Given the description of an element on the screen output the (x, y) to click on. 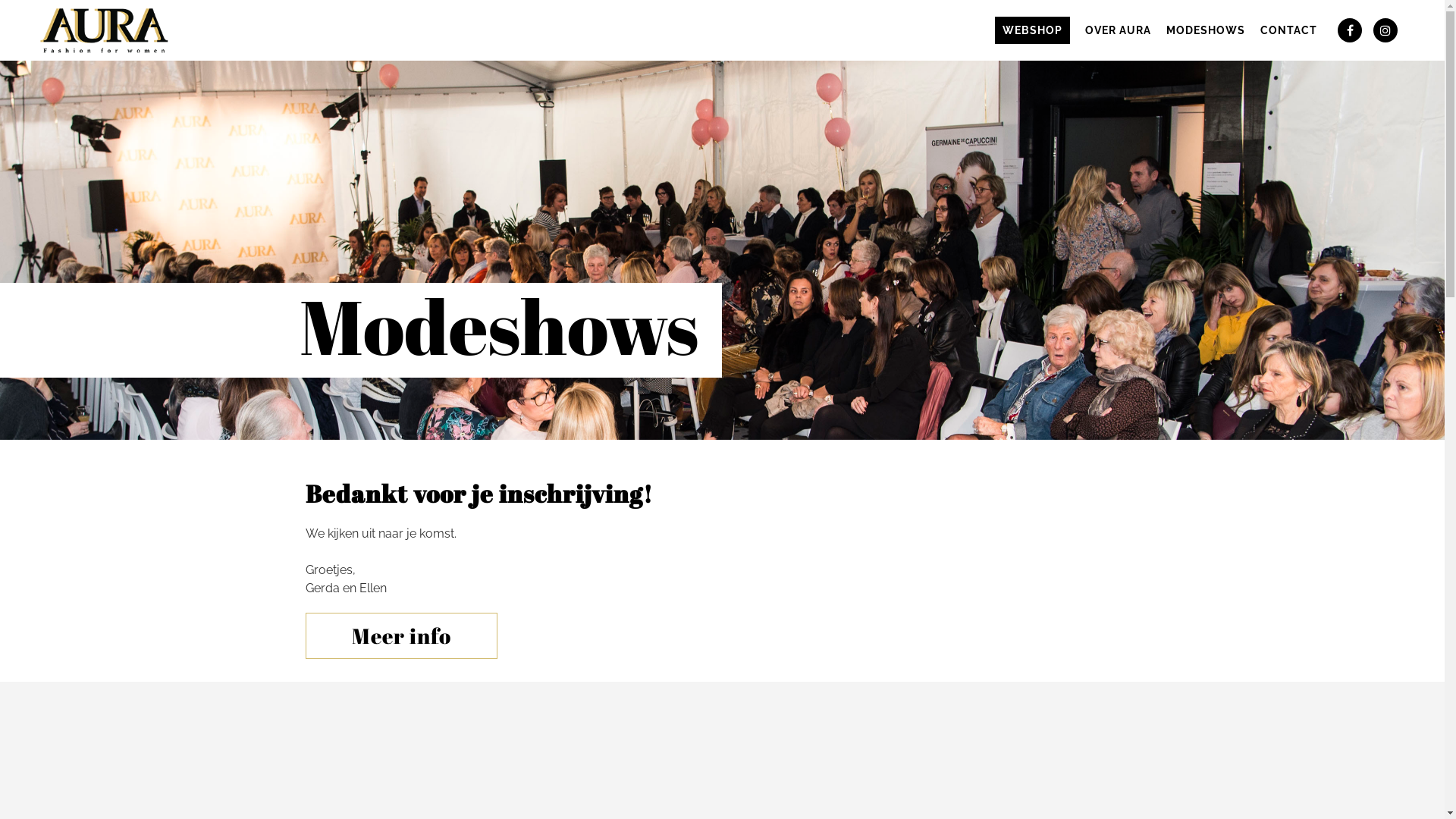
OVER AURA Element type: text (1117, 30)
MODESHOWS Element type: text (1205, 30)
WEBSHOP Element type: text (1032, 30)
Meer info Element type: text (400, 635)
CONTACT Element type: text (1288, 30)
